Given the description of an element on the screen output the (x, y) to click on. 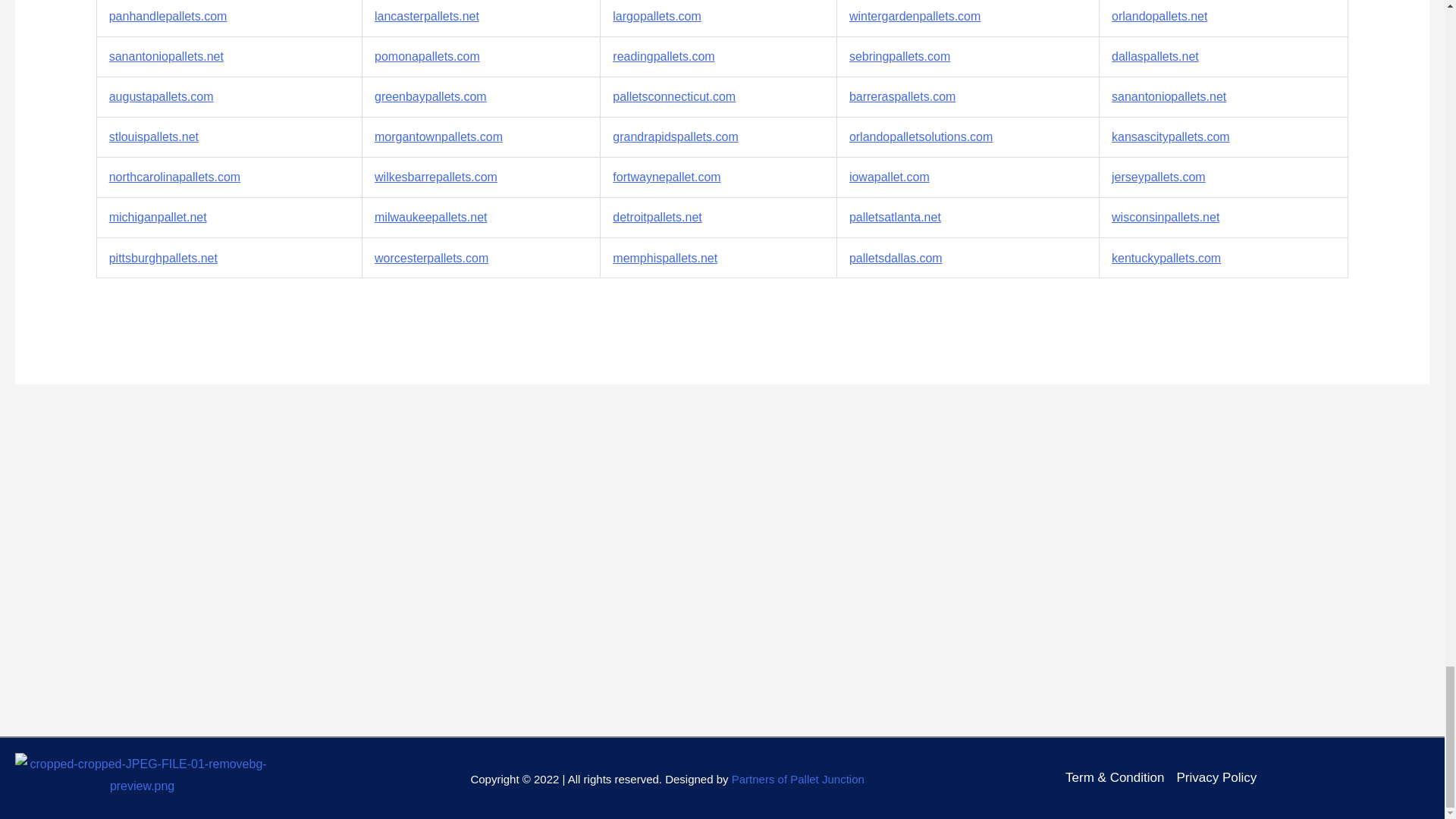
wintergardenpallets.com (913, 15)
panhandlepallets.com (168, 15)
cropped-cropped-JPEG-FILE-01-removebg-preview.png (141, 774)
lancasterpallets.net (426, 15)
largopallets.com (656, 15)
